Given the description of an element on the screen output the (x, y) to click on. 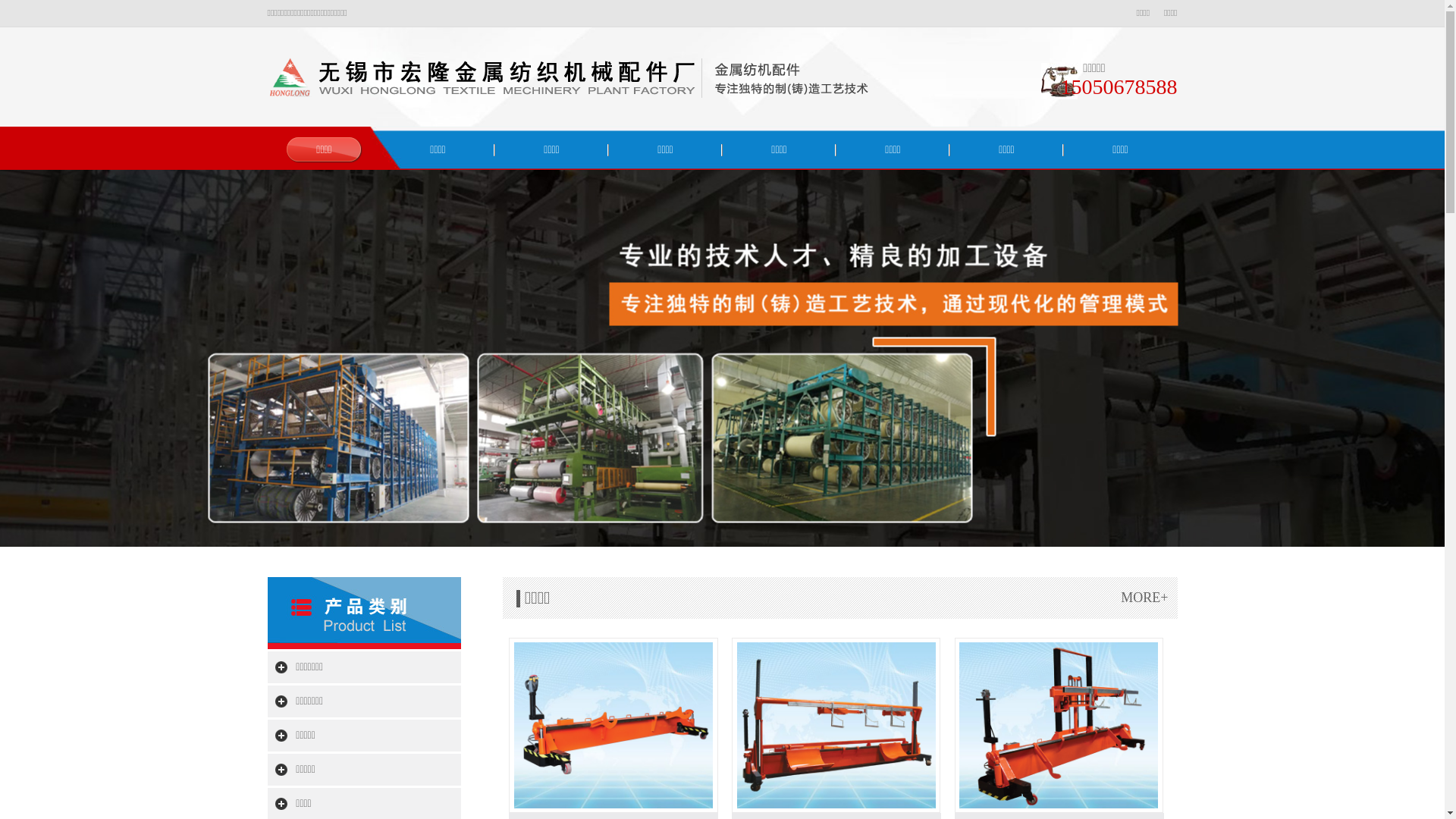
MORE+ Element type: text (1143, 597)
